Given the description of an element on the screen output the (x, y) to click on. 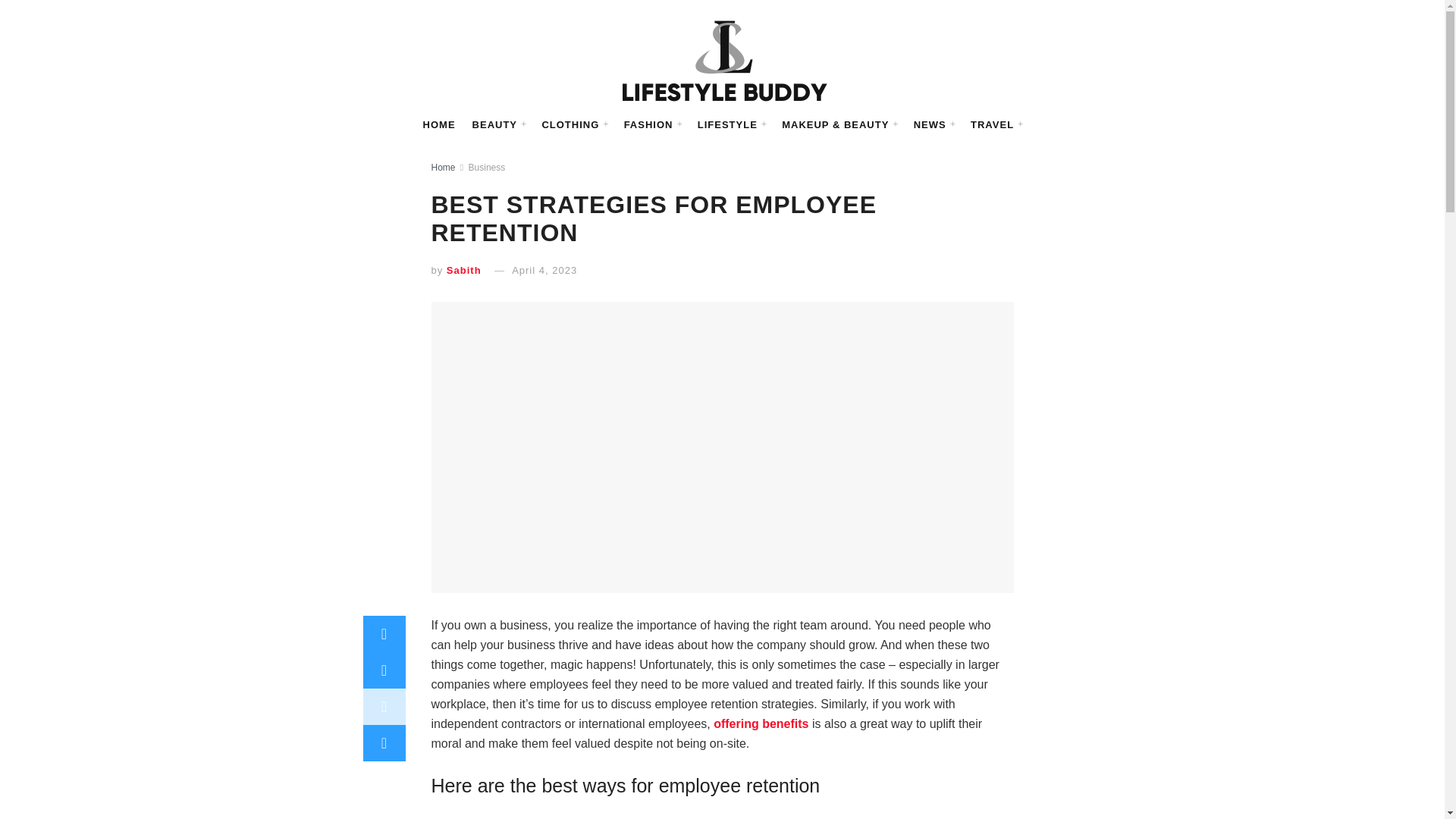
BEAUTY (521, 125)
FASHION (659, 125)
CLOTHING (589, 125)
LIFESTYLE (731, 125)
